Given the description of an element on the screen output the (x, y) to click on. 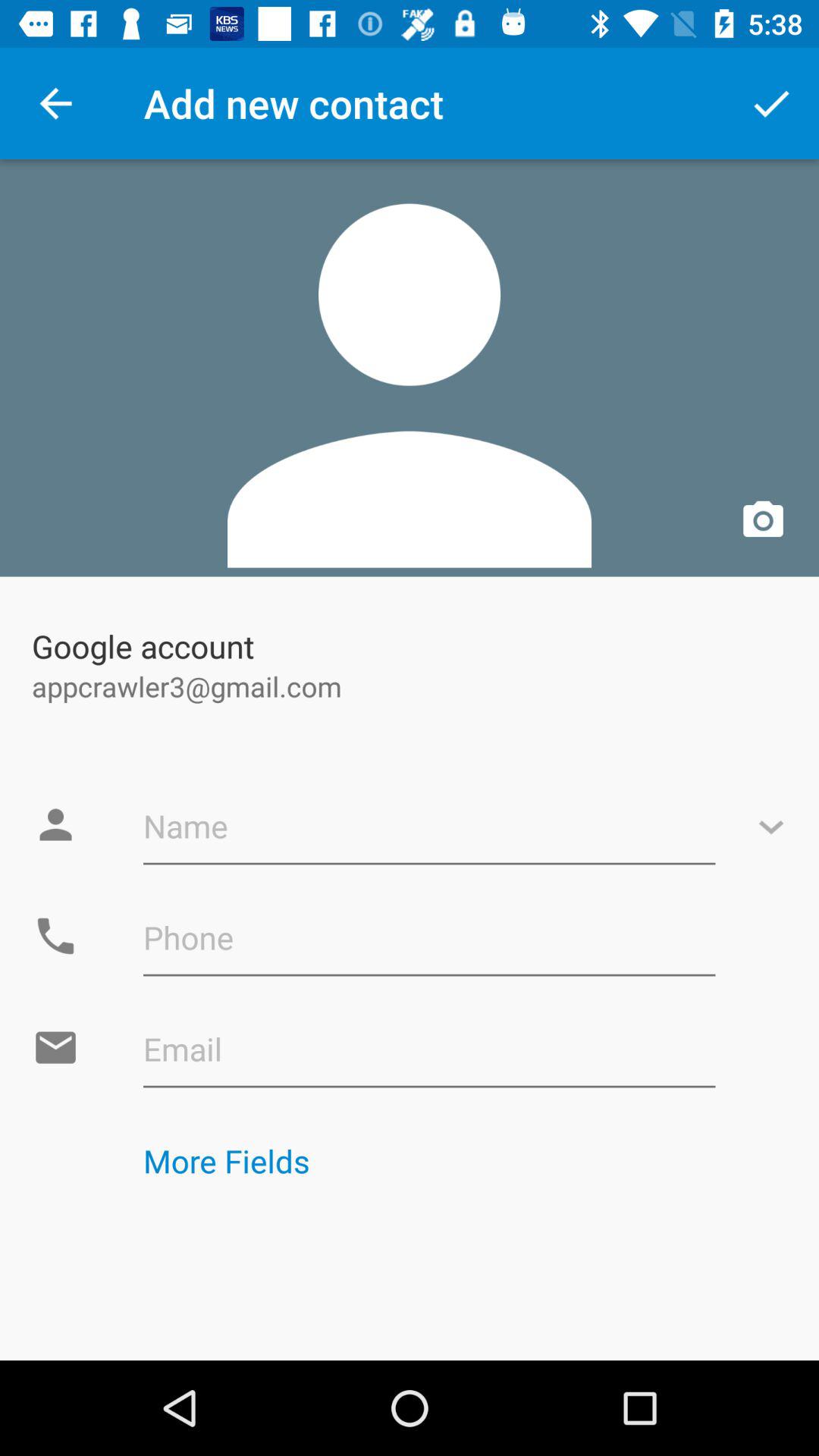
open the app next to add new contact item (771, 103)
